Given the description of an element on the screen output the (x, y) to click on. 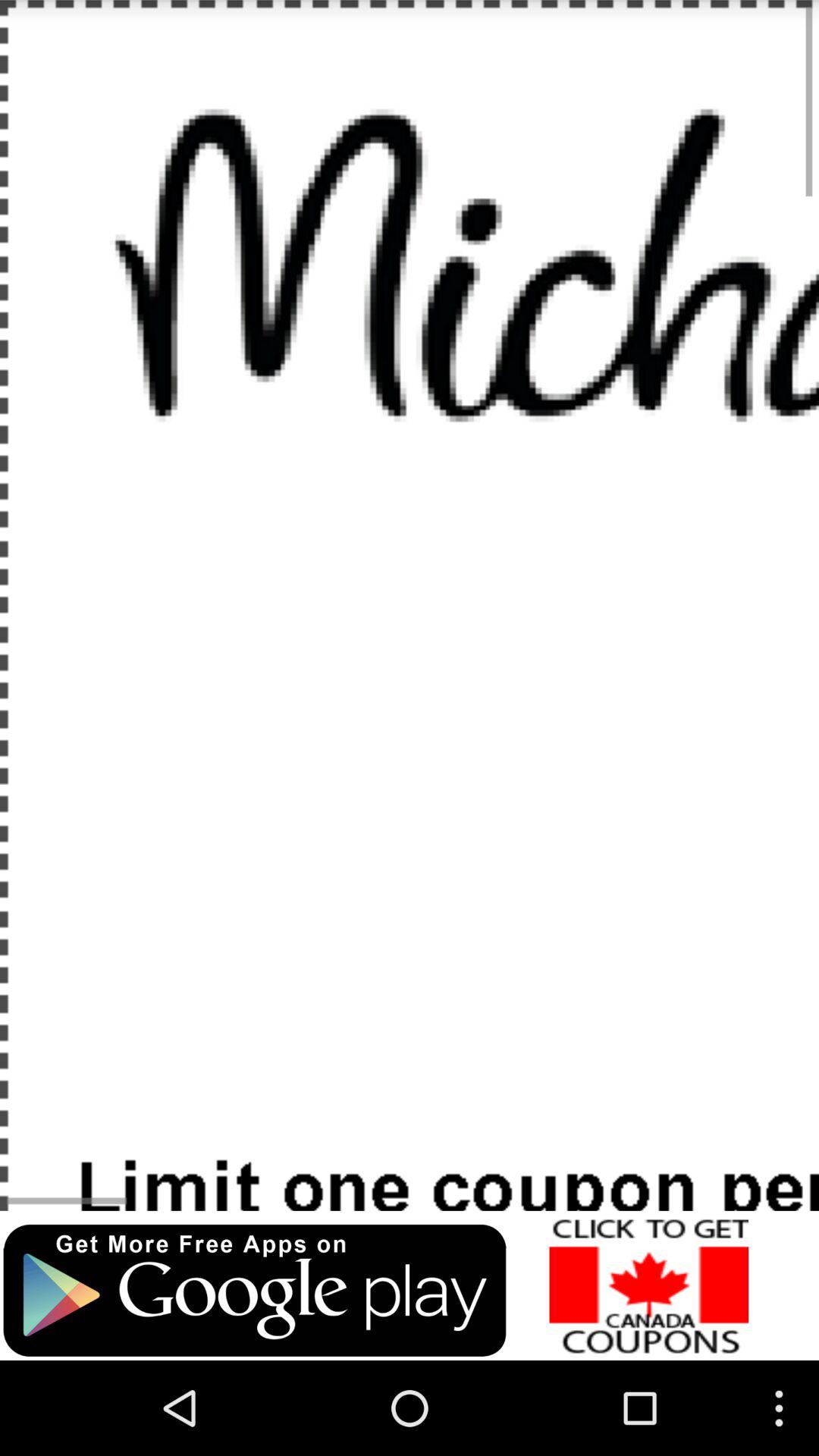
advertisement (254, 1290)
